Given the description of an element on the screen output the (x, y) to click on. 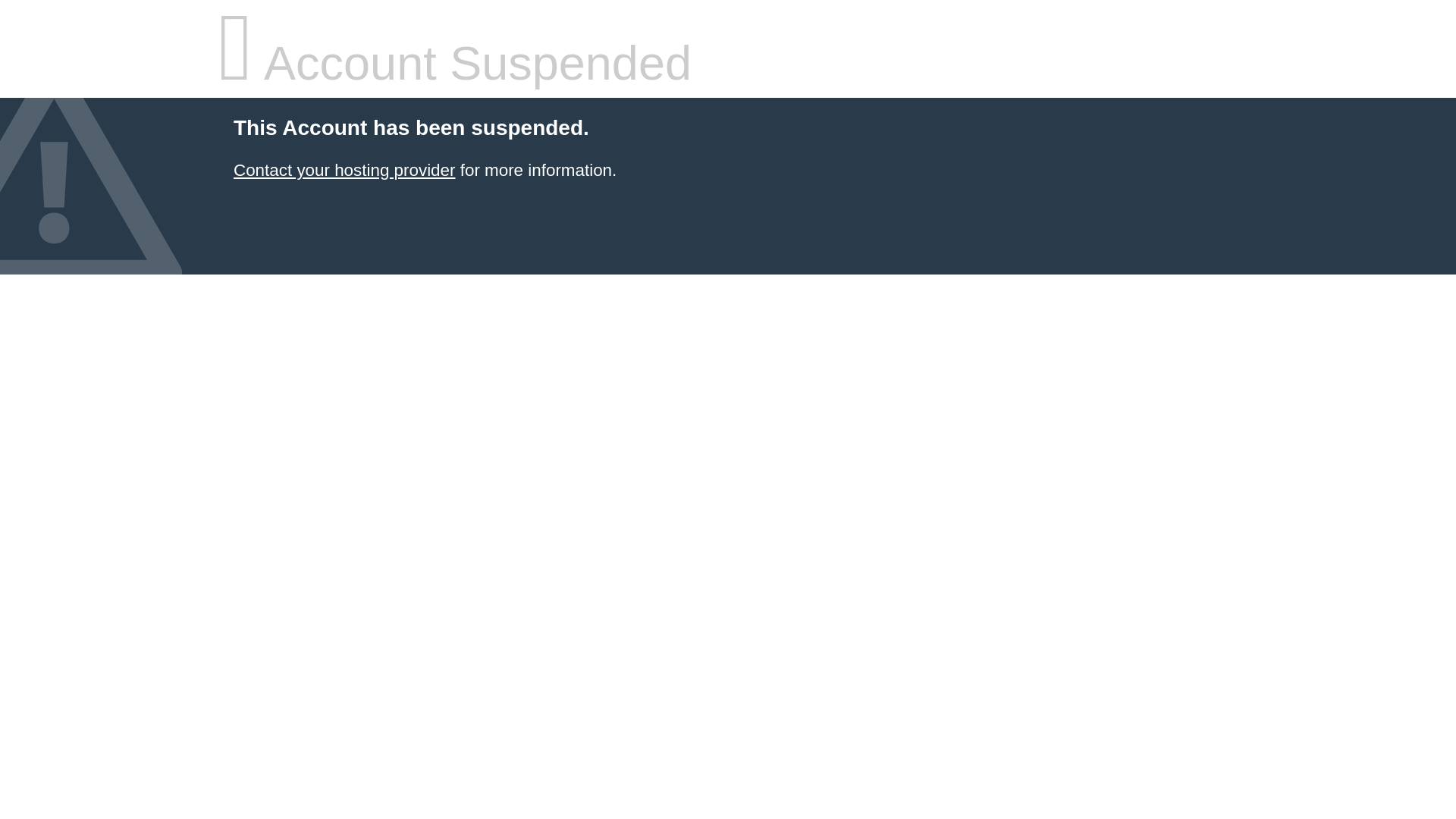
Contact your hosting provider (343, 169)
